Given the description of an element on the screen output the (x, y) to click on. 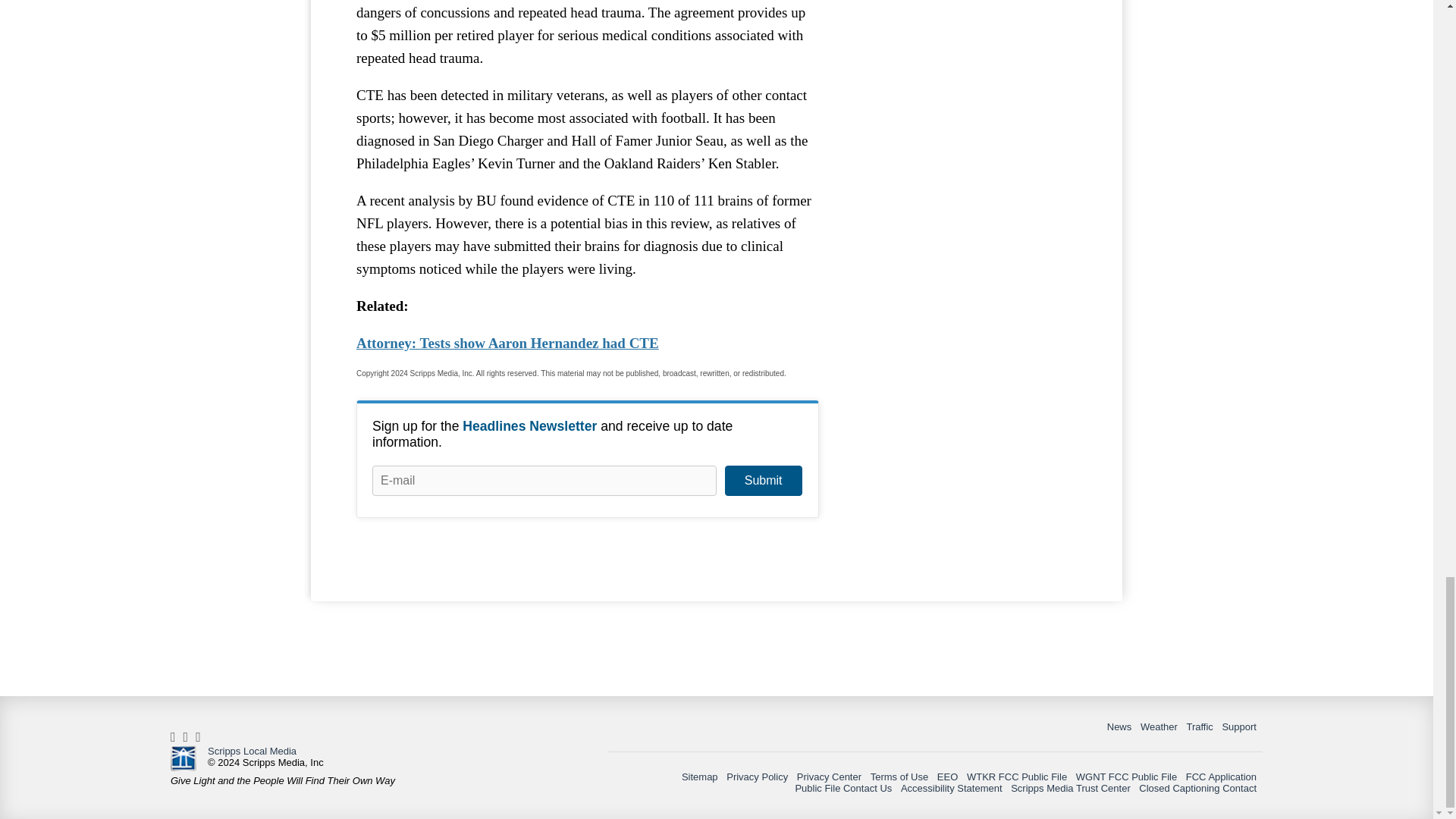
Submit (763, 481)
